Given the description of an element on the screen output the (x, y) to click on. 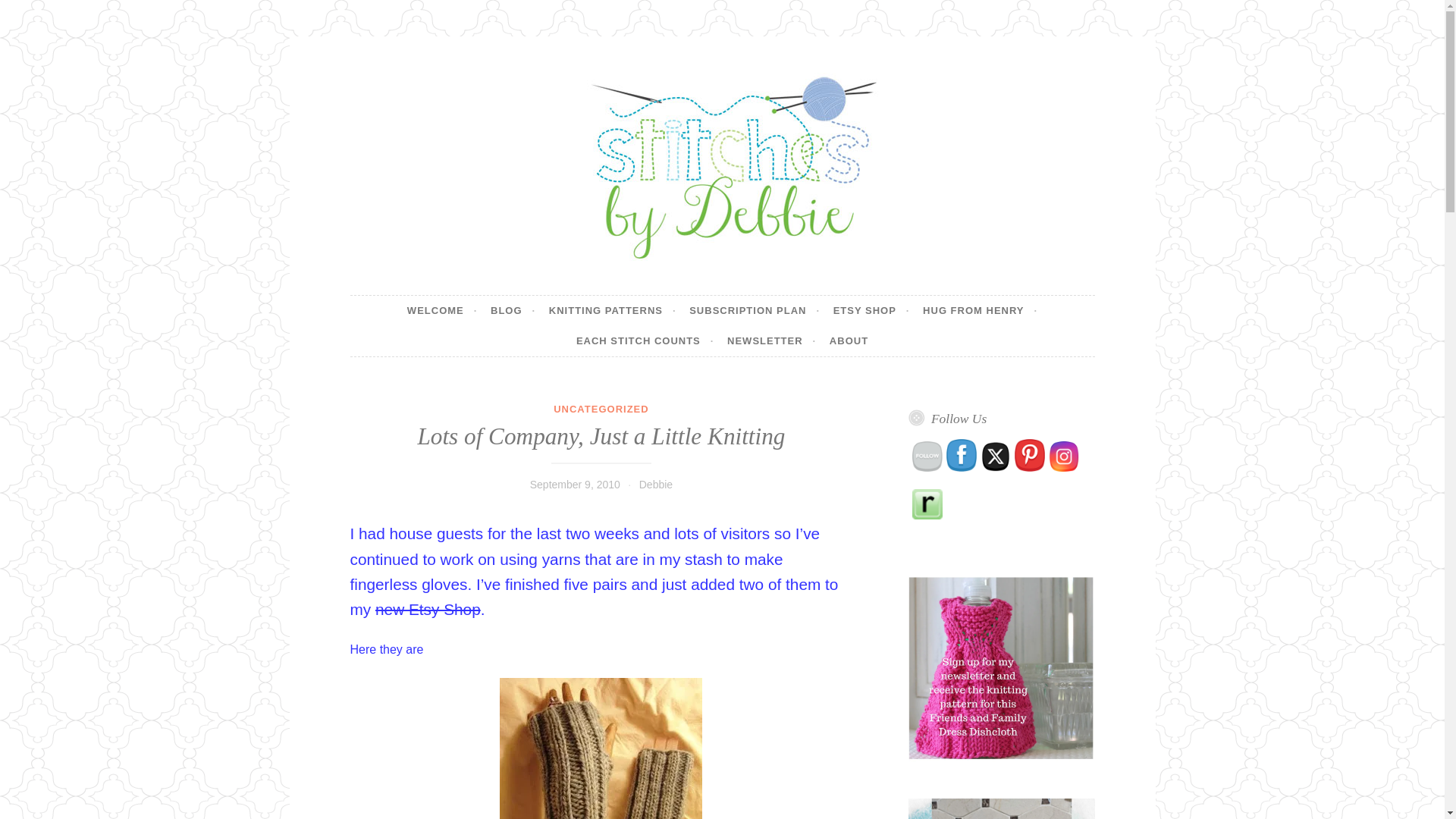
EACH STITCH COUNTS (645, 340)
WELCOME (442, 310)
ABOUT (848, 340)
HUG FROM HENRY (979, 310)
Debbie (655, 484)
INSTAGRAM (1063, 456)
NEWSLETTER (770, 340)
new Etsy Shop (427, 609)
Pinterest (1029, 454)
UNCATEGORIZED (600, 408)
Stitches by Debbie (490, 294)
SUBSCRIPTION PLAN (753, 310)
Twitter (994, 456)
BLOG (512, 310)
